Given the description of an element on the screen output the (x, y) to click on. 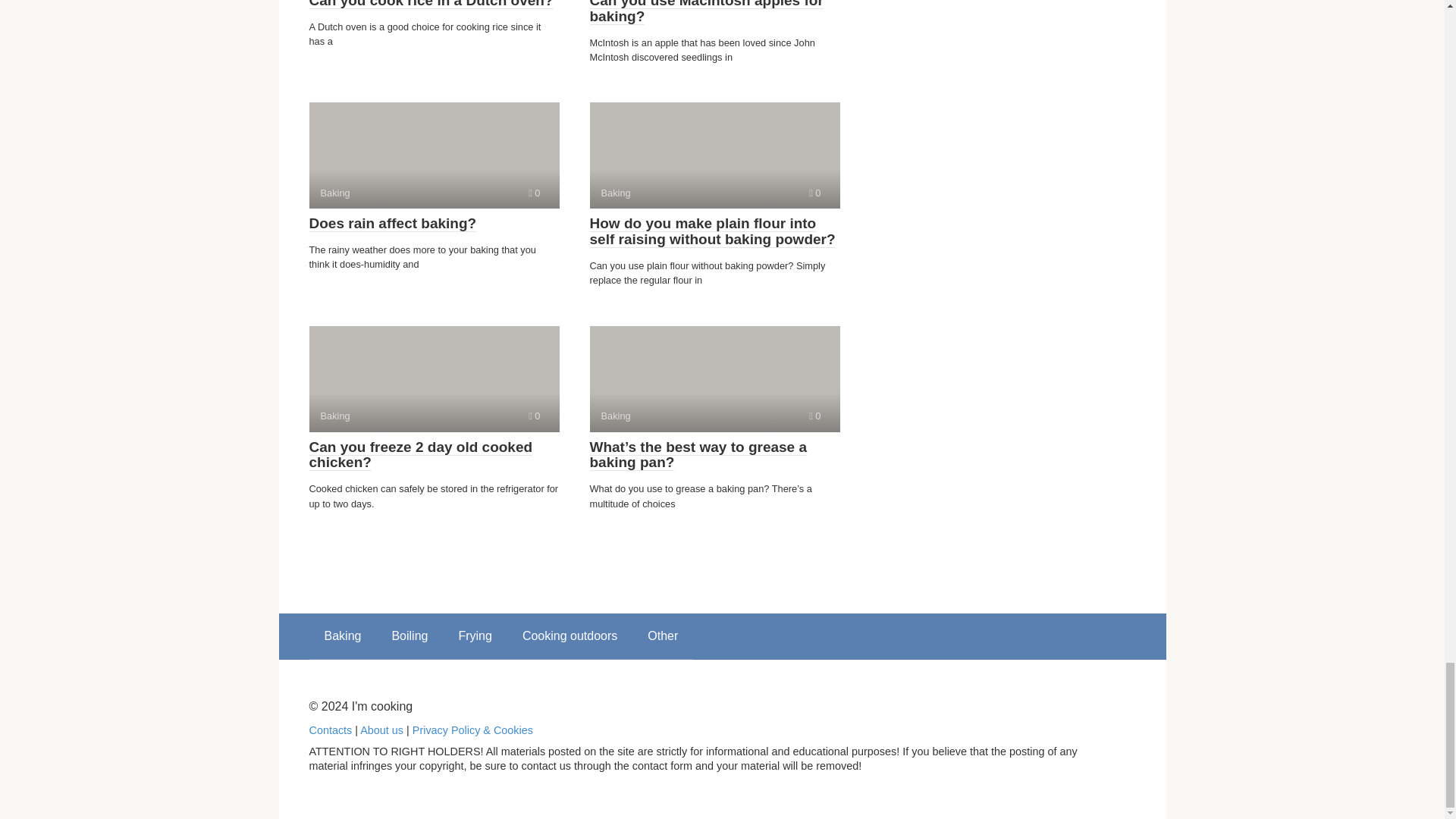
Comments (815, 415)
Can you use Macintosh apples for baking? (706, 12)
Comments (534, 193)
Comments (815, 193)
Does rain affect baking? (392, 223)
Comments (714, 155)
Can you cook rice in a Dutch oven? (534, 415)
